Given the description of an element on the screen output the (x, y) to click on. 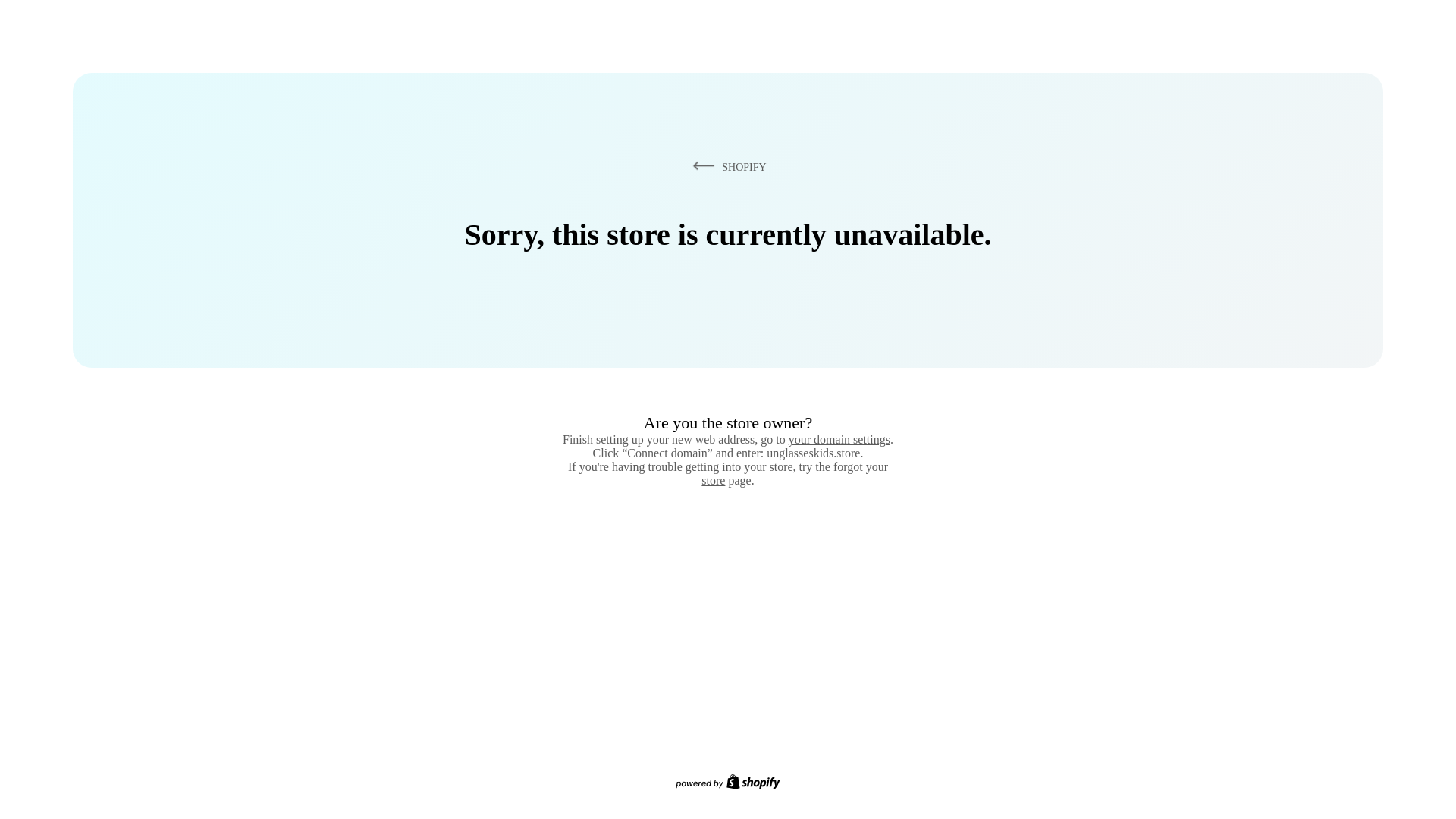
your domain settings (839, 439)
SHOPIFY (726, 166)
forgot your store (794, 473)
